Given the description of an element on the screen output the (x, y) to click on. 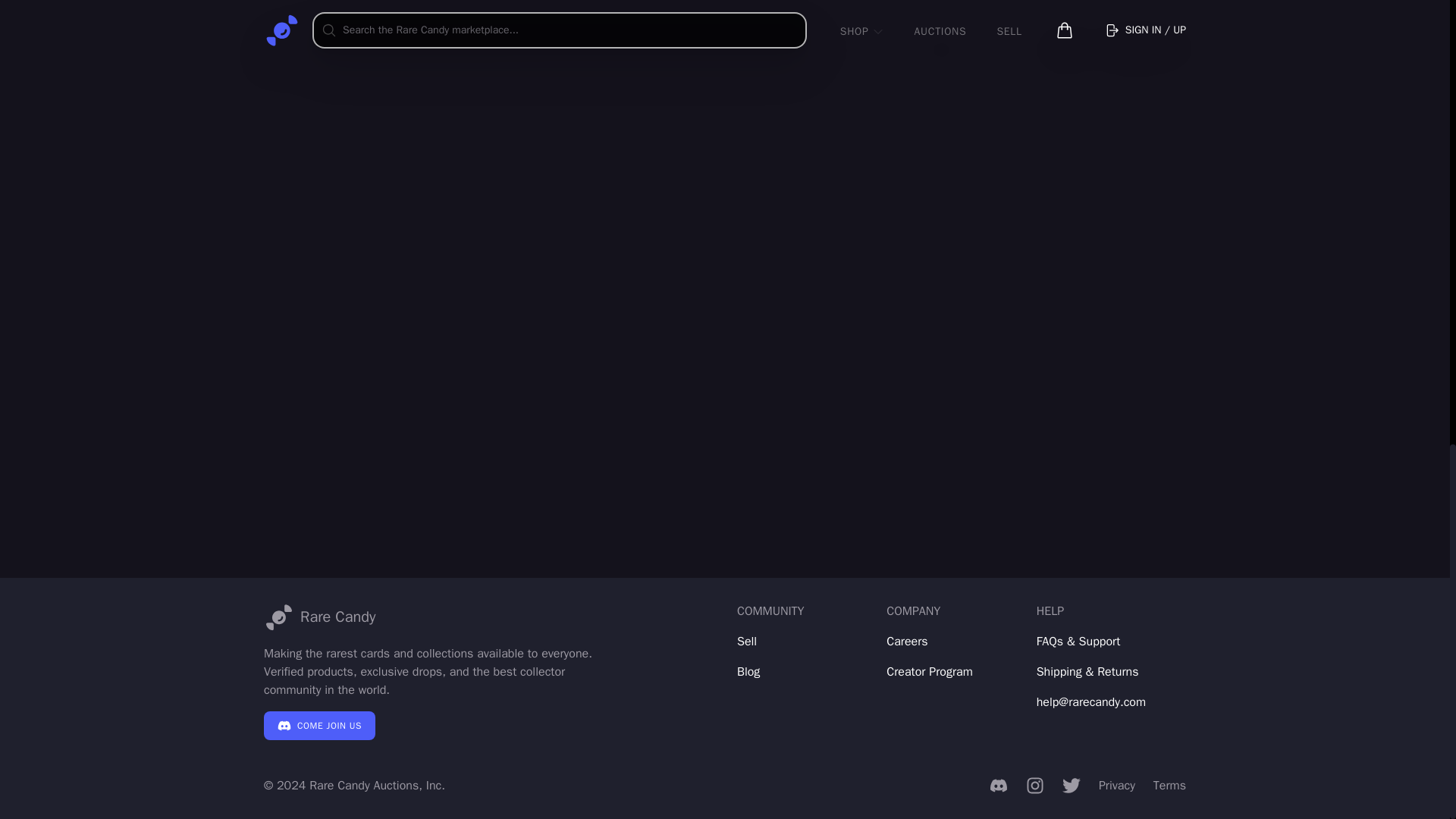
COME JOIN US (319, 725)
